Given the description of an element on the screen output the (x, y) to click on. 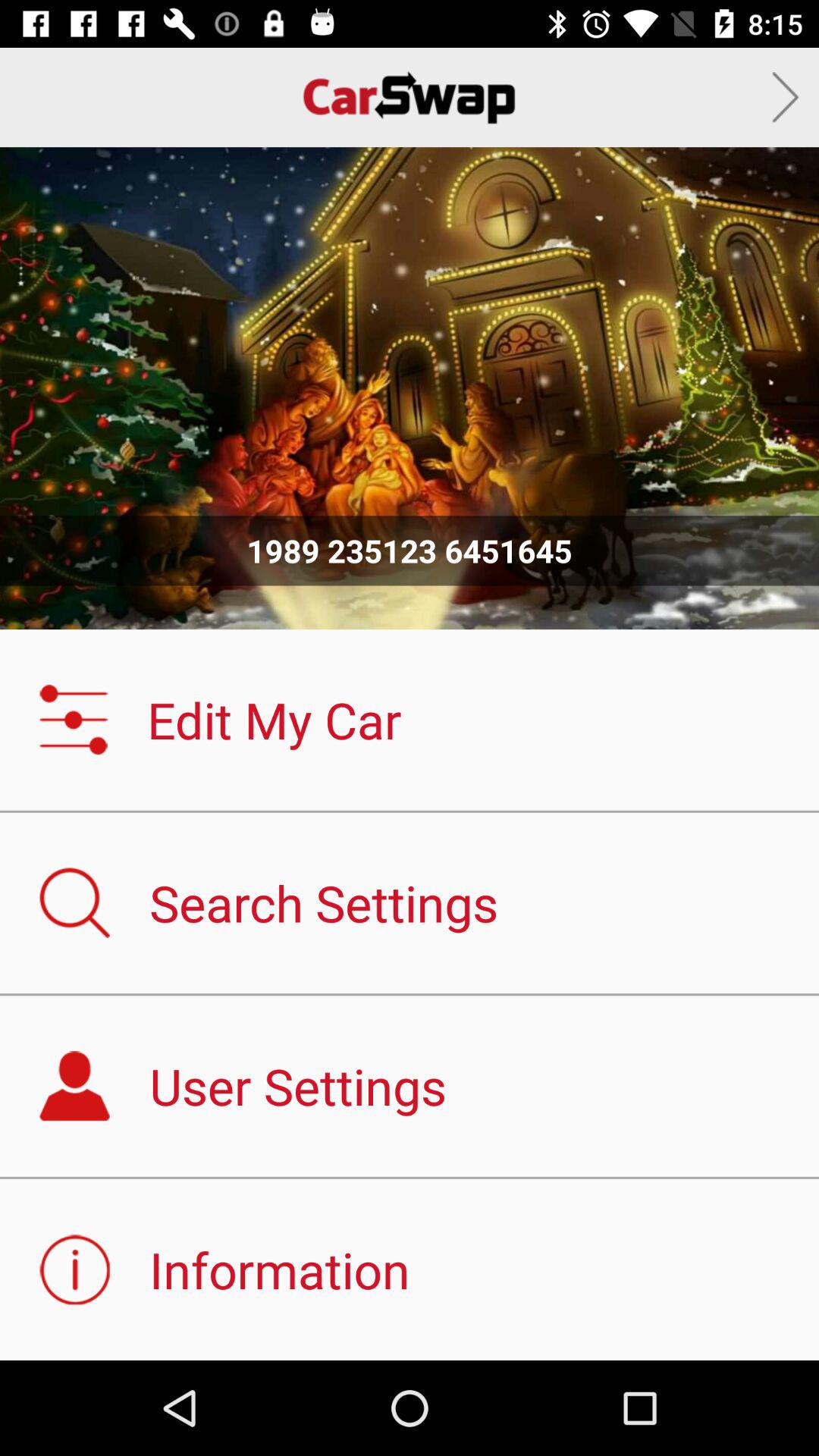
go to next car (785, 97)
